Given the description of an element on the screen output the (x, y) to click on. 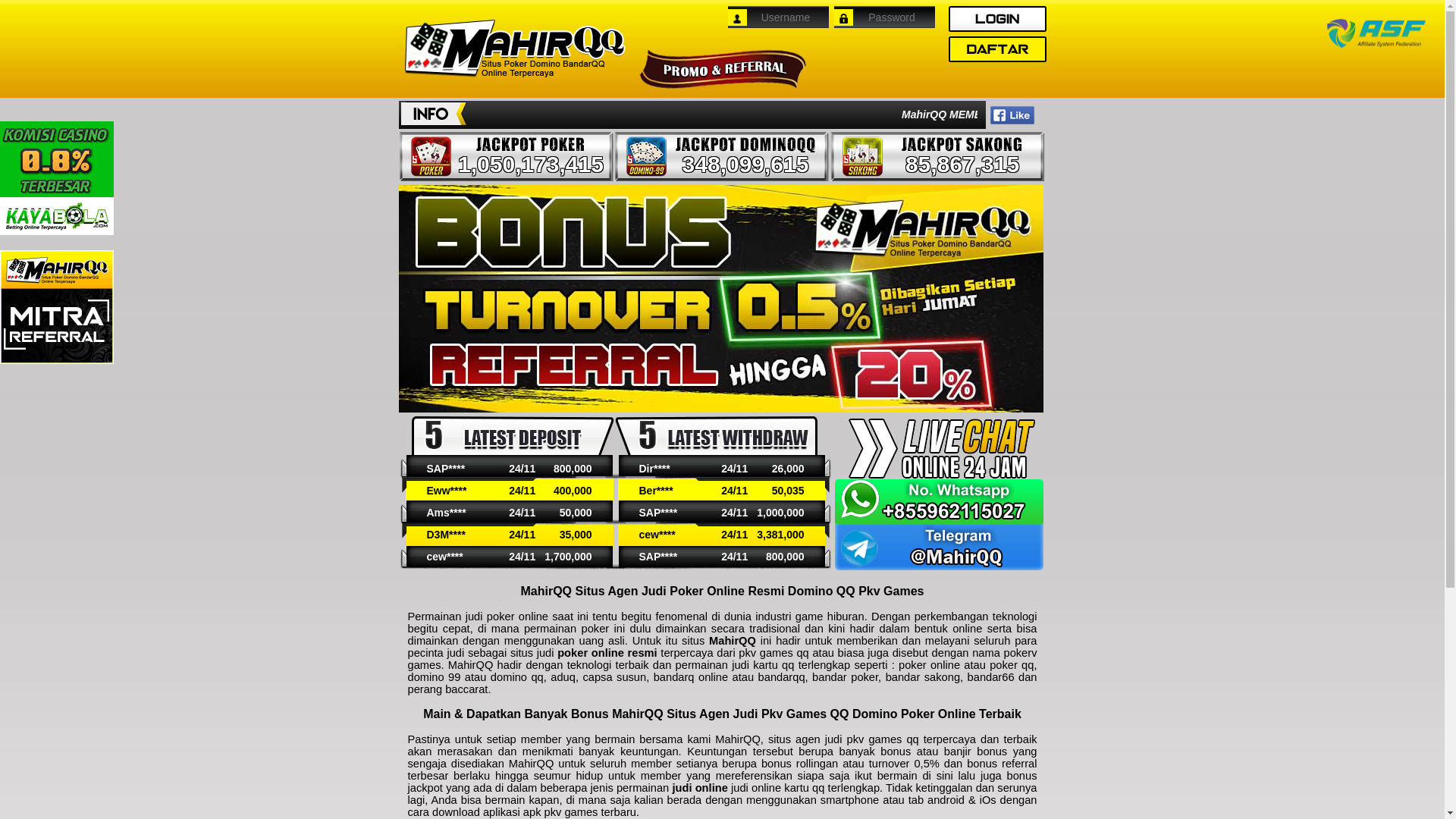
poker online resmi Element type: text (607, 652)
judi online Element type: text (699, 787)
MahirQQ Element type: hover (511, 49)
